Given the description of an element on the screen output the (x, y) to click on. 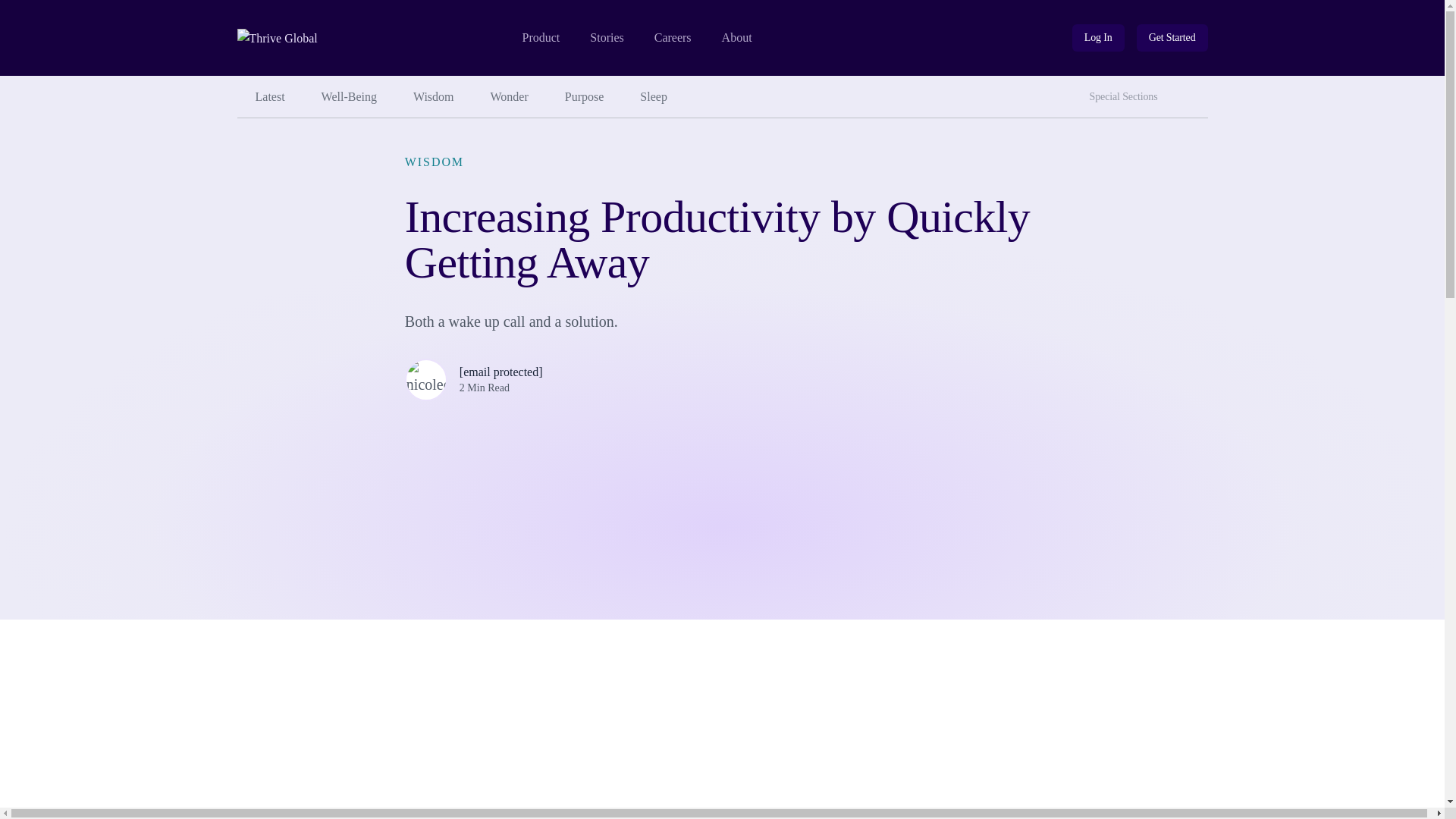
Special Sections (1126, 97)
Latest (268, 96)
Get Started (1172, 37)
Sleep (653, 96)
Wisdom (432, 96)
btn-primary (1172, 37)
Log In (1097, 37)
Product (540, 37)
Wonder (509, 96)
Careers (672, 37)
btn-info (1193, 91)
Purpose (1097, 37)
About (585, 96)
Well-Being (737, 37)
